Given the description of an element on the screen output the (x, y) to click on. 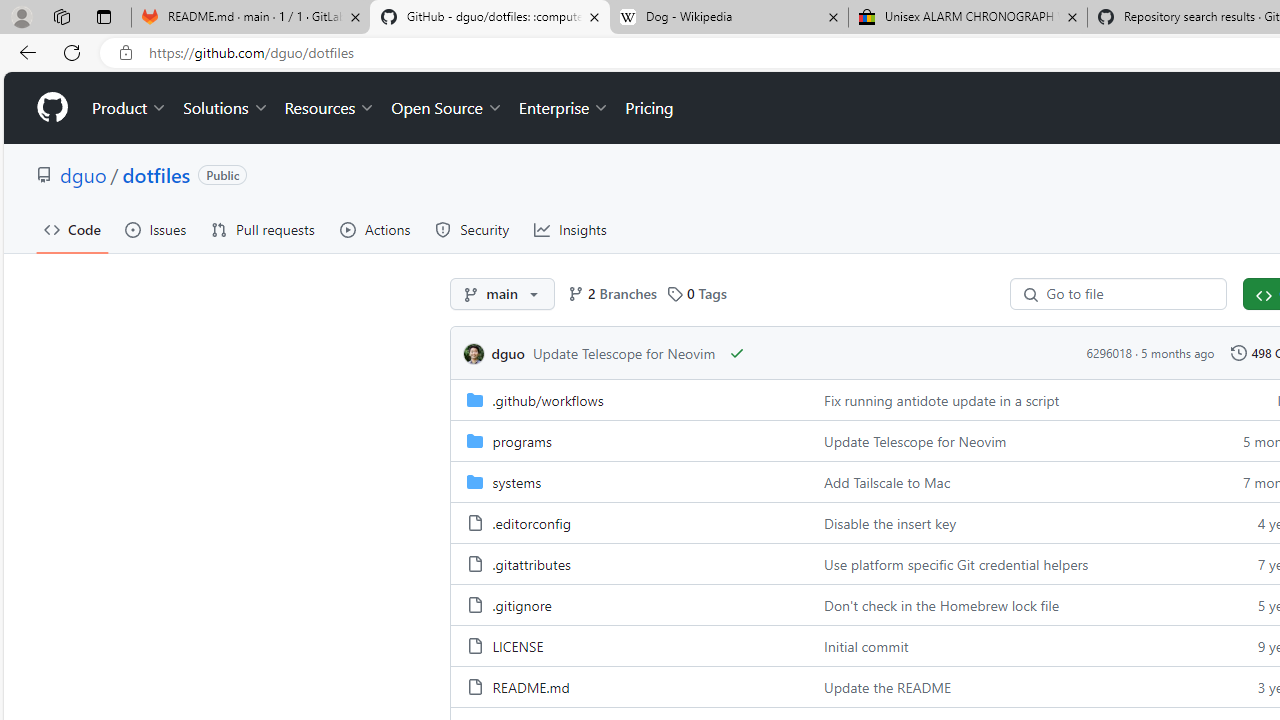
Go to file (1125, 293)
Code (71, 229)
Update the README (887, 686)
Pricing (649, 107)
commits by dguo (507, 353)
Update Telescope for Neovim (915, 440)
.editorconfig, (File) (530, 522)
Initial commit (1008, 645)
dotfiles (155, 174)
Commit 6296018 (1108, 353)
.github/workflows, (Directory) (547, 399)
programs, (Directory) (521, 440)
Pull requests (262, 229)
main branch (502, 293)
